Given the description of an element on the screen output the (x, y) to click on. 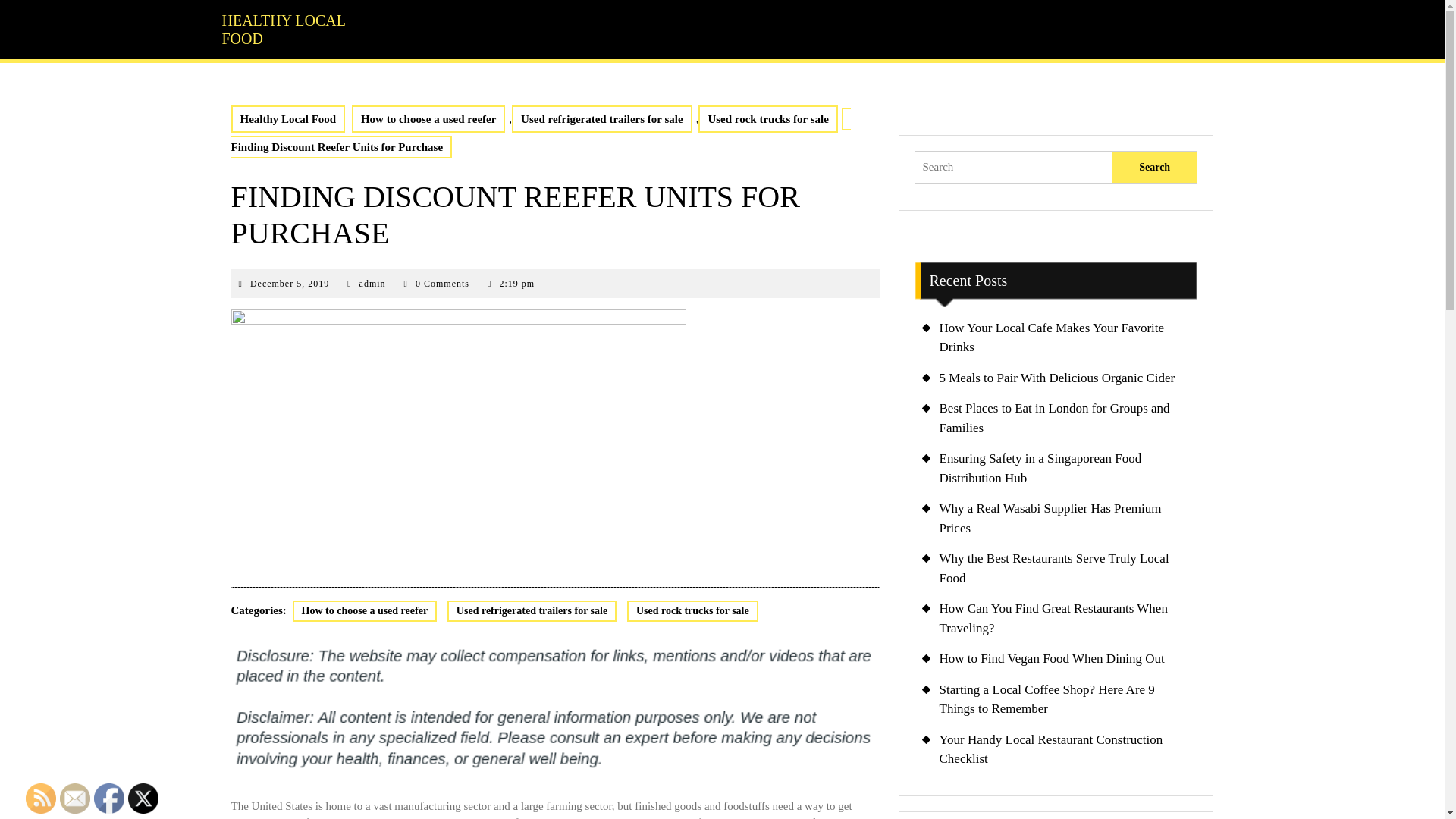
Used rock trucks for sale (767, 119)
Twitter (143, 797)
Used refrigerated trailers for sale (602, 119)
How to choose a used reefer (428, 119)
Healthy Local Food (287, 119)
Why the Best Restaurants Serve Truly Local Food (1054, 568)
Search (1154, 166)
How to choose a used reefer (365, 610)
5 Meals to Pair With Delicious Organic Cider (1056, 377)
Ensuring Safety in a Singaporean Food Distribution Hub (1040, 468)
Used refrigerated trailers for sale (530, 610)
How Your Local Cafe Makes Your Favorite Drinks (1051, 336)
Follow by Email (74, 797)
Starting a Local Coffee Shop? Here Are 9 Things to Remember (289, 283)
